Given the description of an element on the screen output the (x, y) to click on. 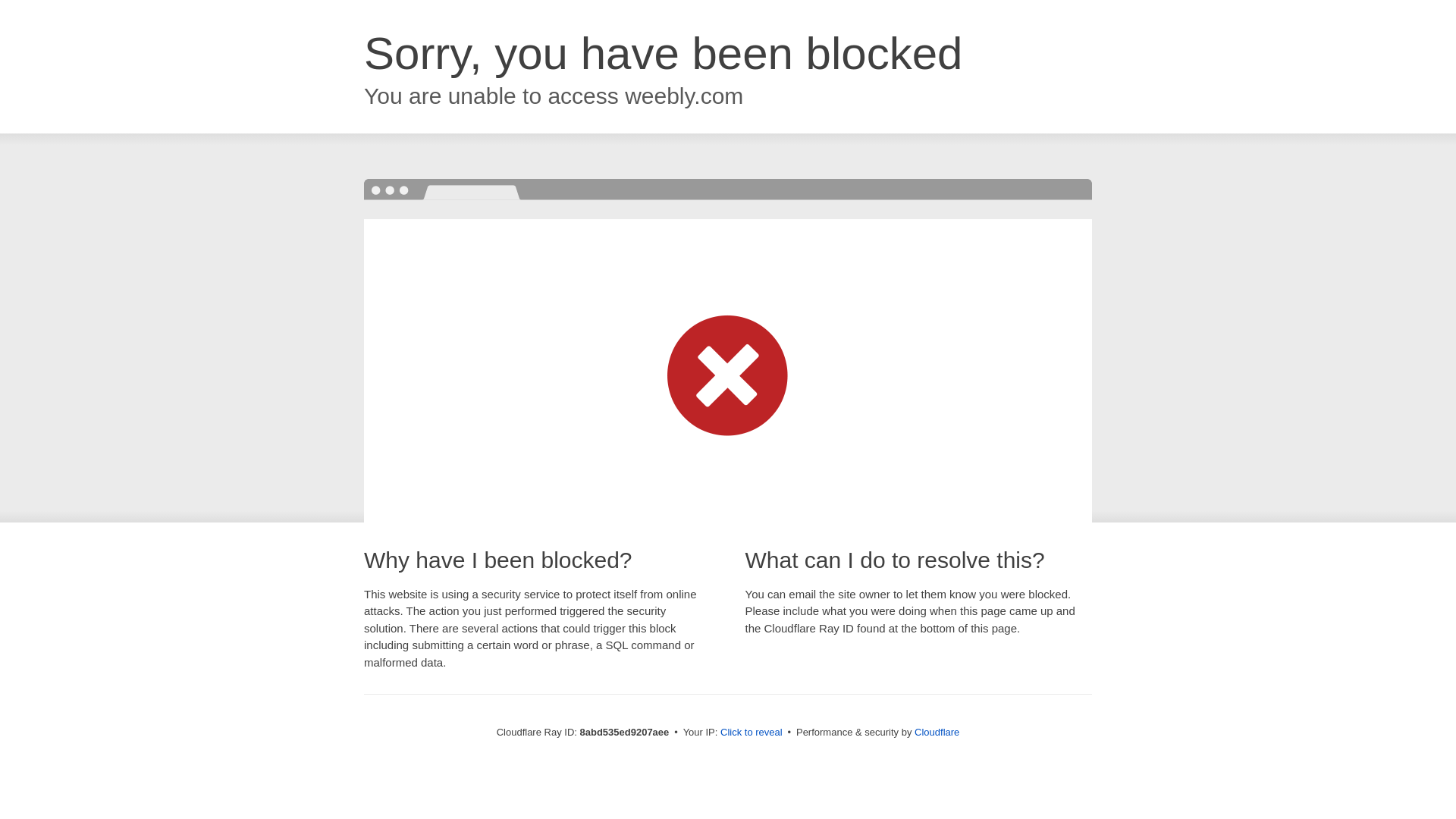
Click to reveal (751, 732)
Cloudflare (936, 731)
